Given the description of an element on the screen output the (x, y) to click on. 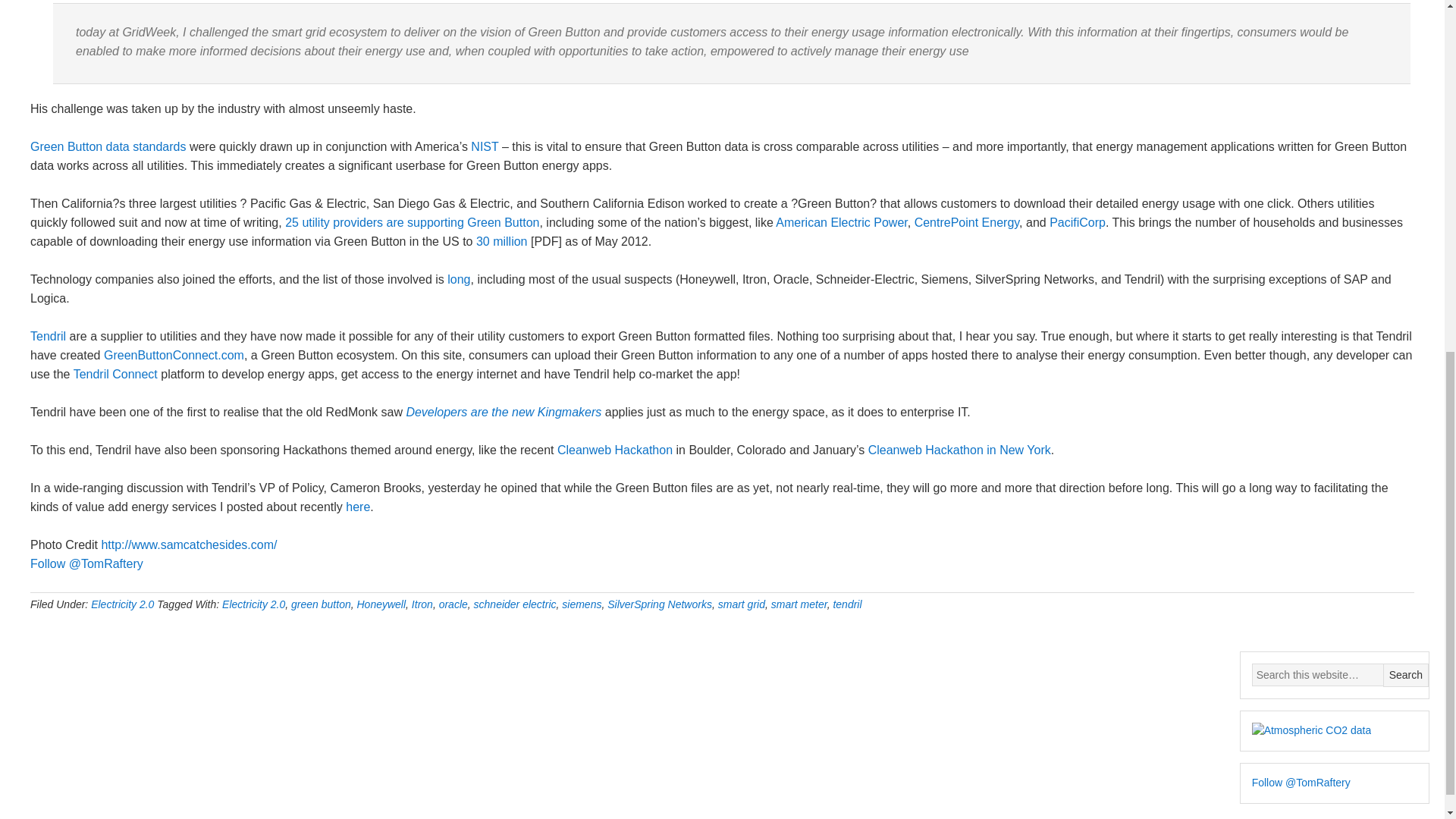
Search (1405, 675)
Earth's latest data for atmospheric CO2 (1311, 730)
Green Button data standards (108, 146)
